Given the description of an element on the screen output the (x, y) to click on. 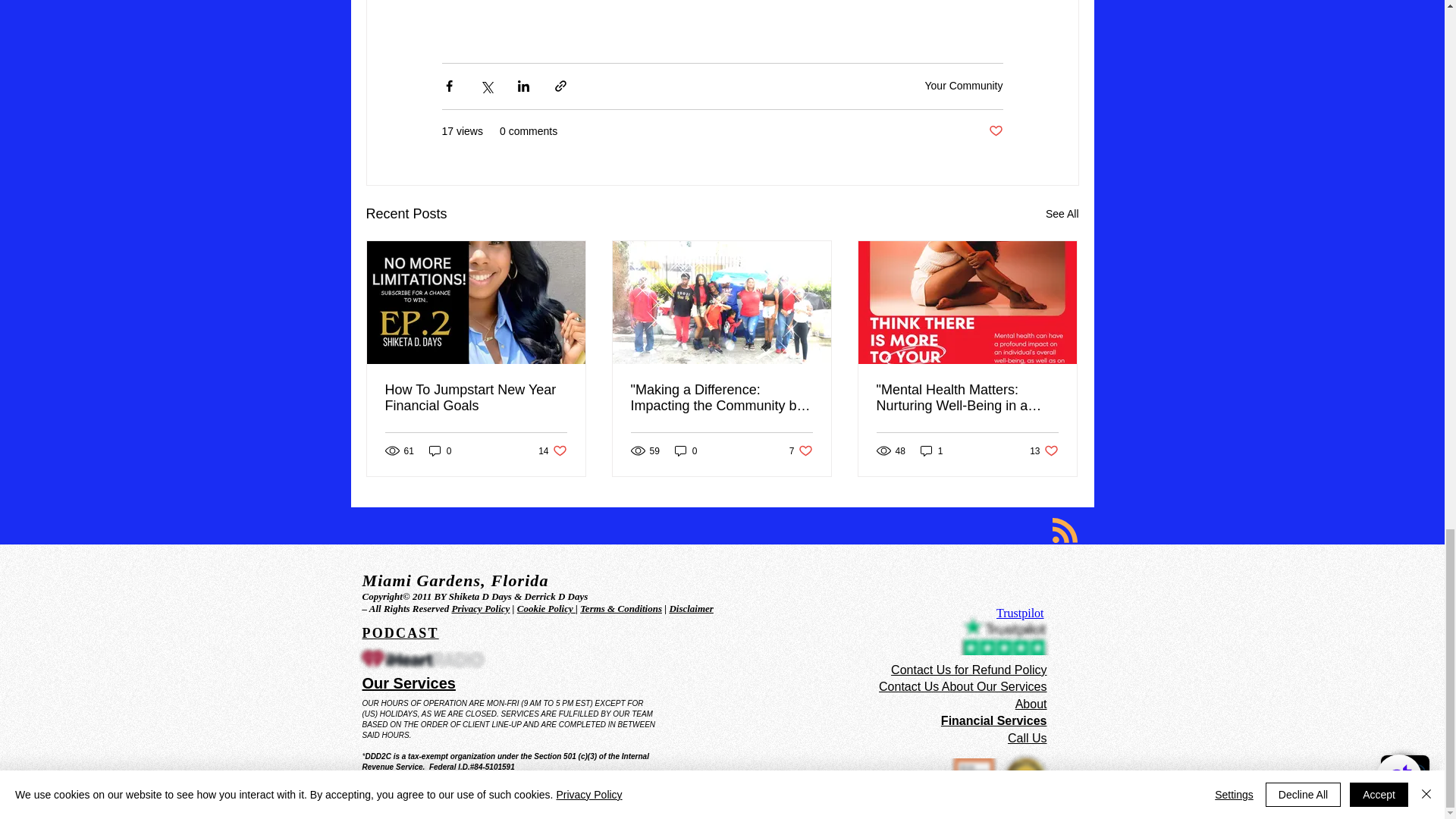
Embedded Content (1037, 616)
